Given the description of an element on the screen output the (x, y) to click on. 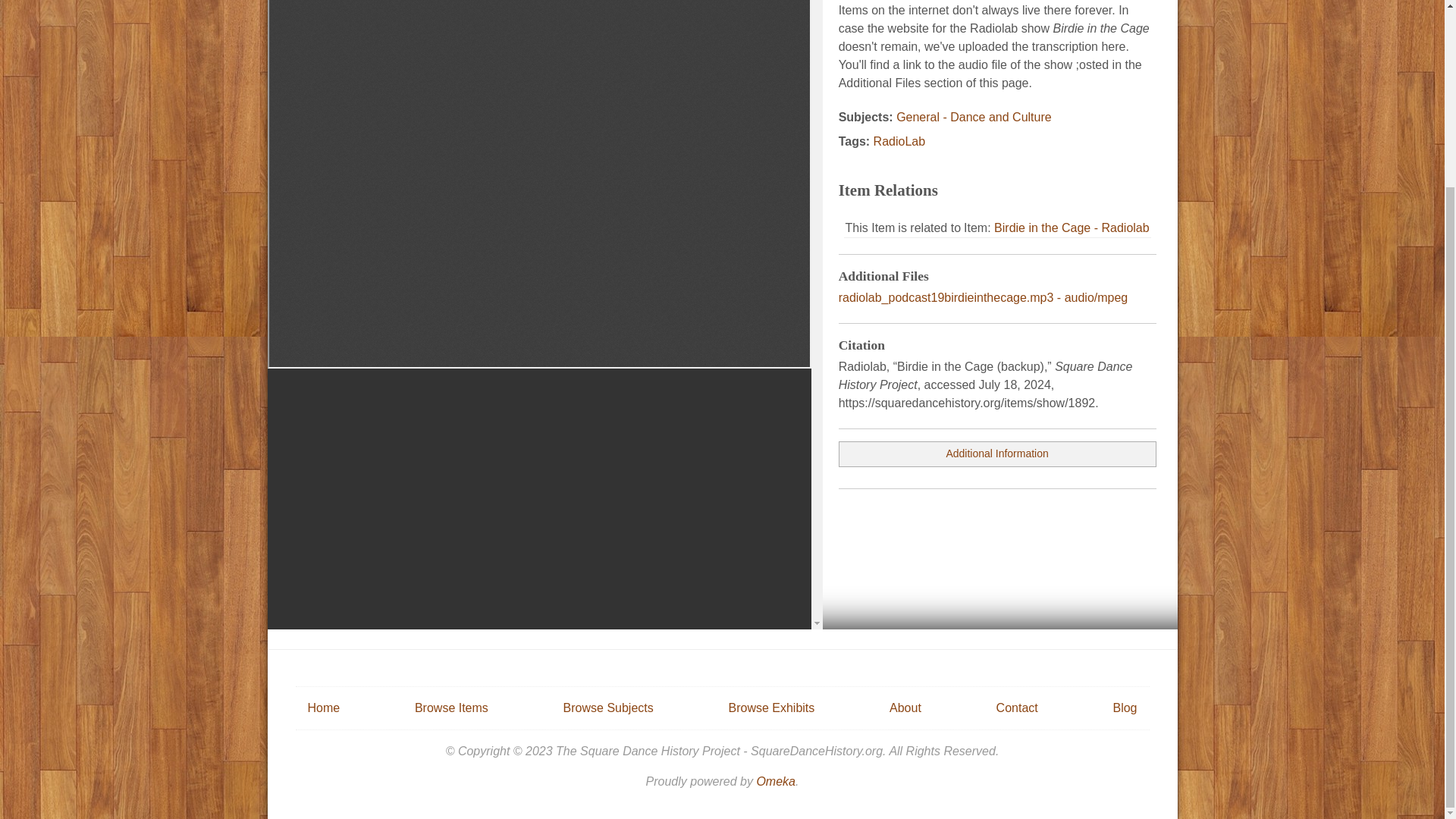
Home (323, 707)
